Given the description of an element on the screen output the (x, y) to click on. 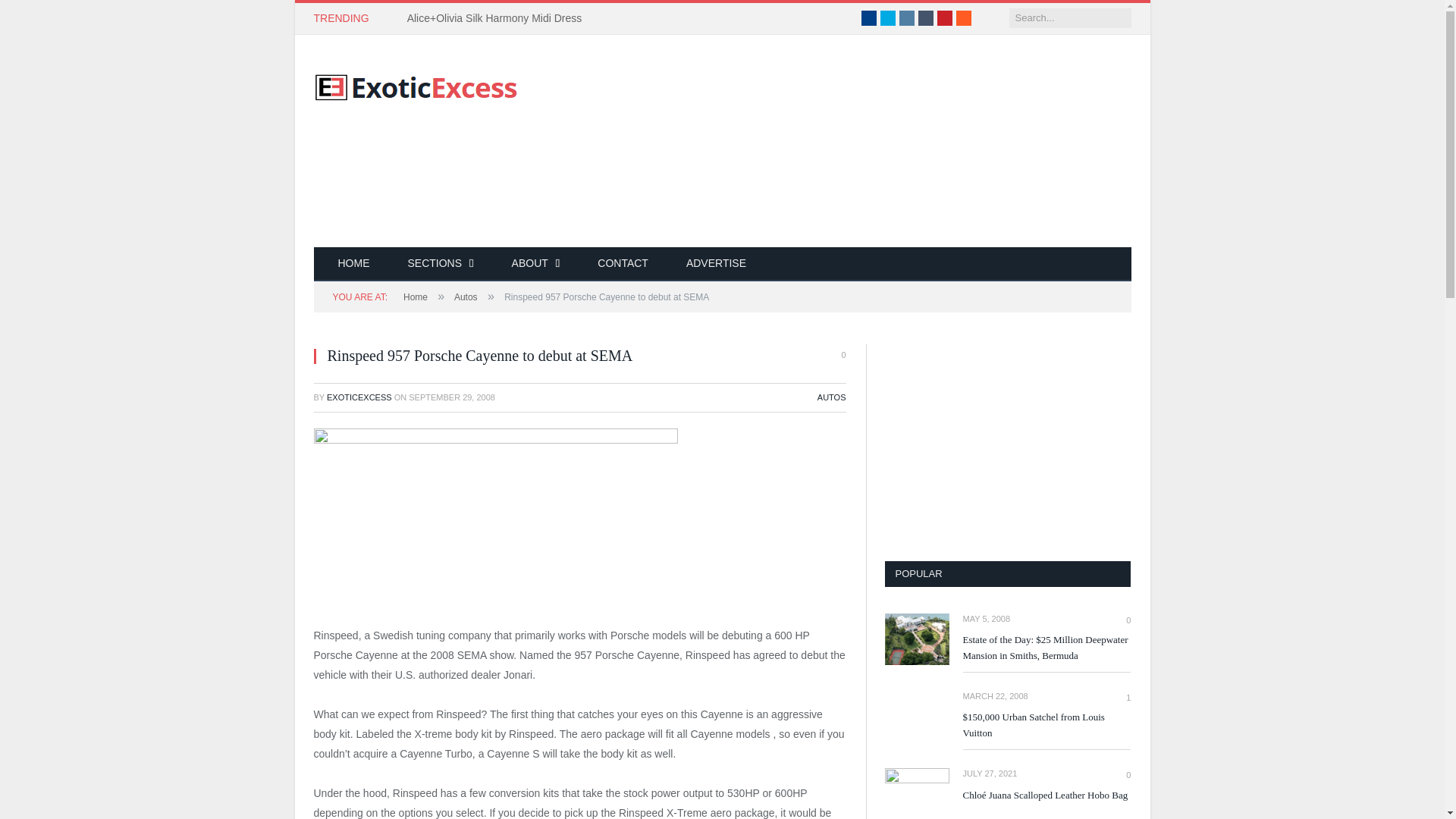
CONTACT (622, 264)
Instagram (906, 17)
Pinterest (944, 17)
Twitter (887, 17)
Facebook (868, 17)
RSS (963, 17)
ADVERTISE (715, 264)
Advertisement (855, 141)
Twitter (887, 17)
Pinterest (944, 17)
